Given the description of an element on the screen output the (x, y) to click on. 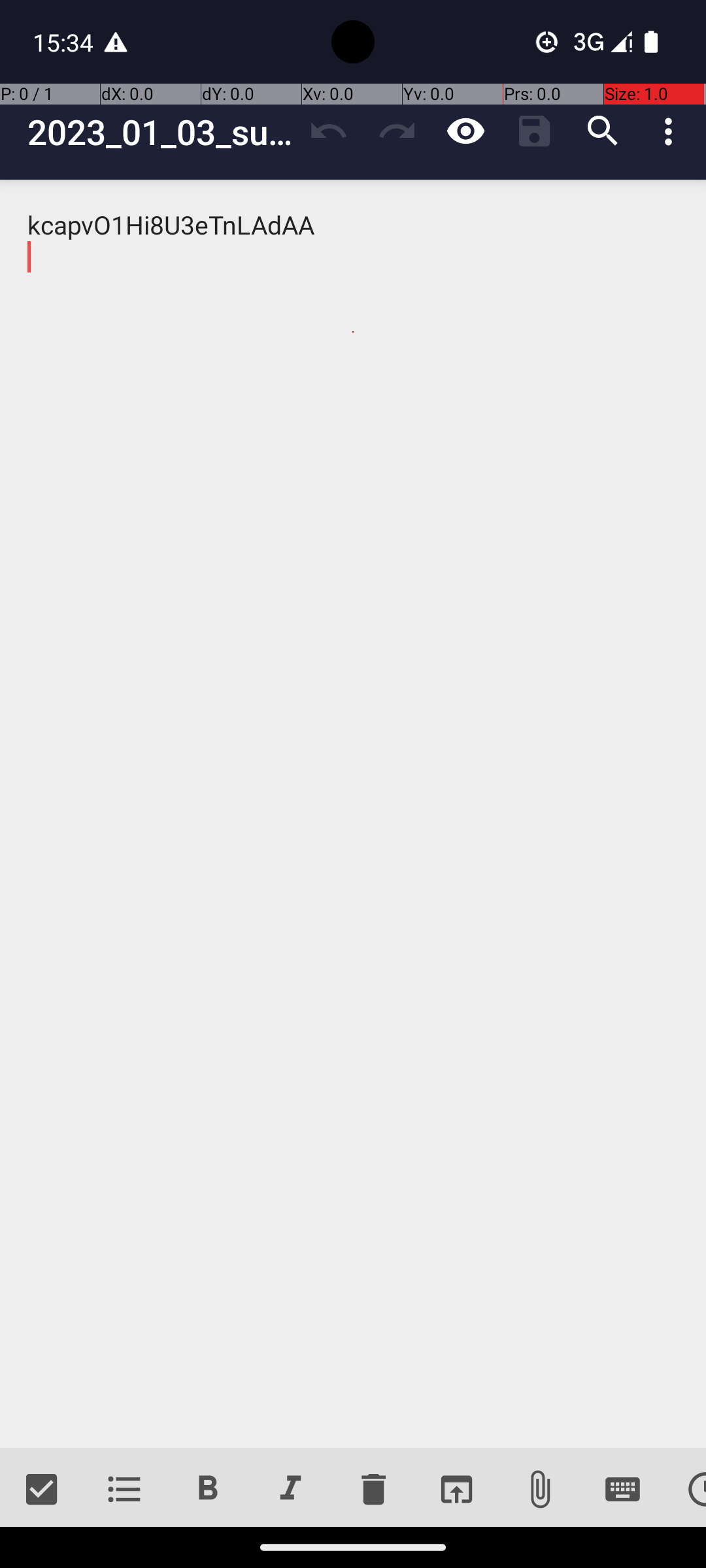
2023_01_03_summer_vacation_plans Element type: android.widget.TextView (160, 131)
kcapvO1Hi8U3eTnLAdAA
 Element type: android.widget.EditText (353, 813)
